Given the description of an element on the screen output the (x, y) to click on. 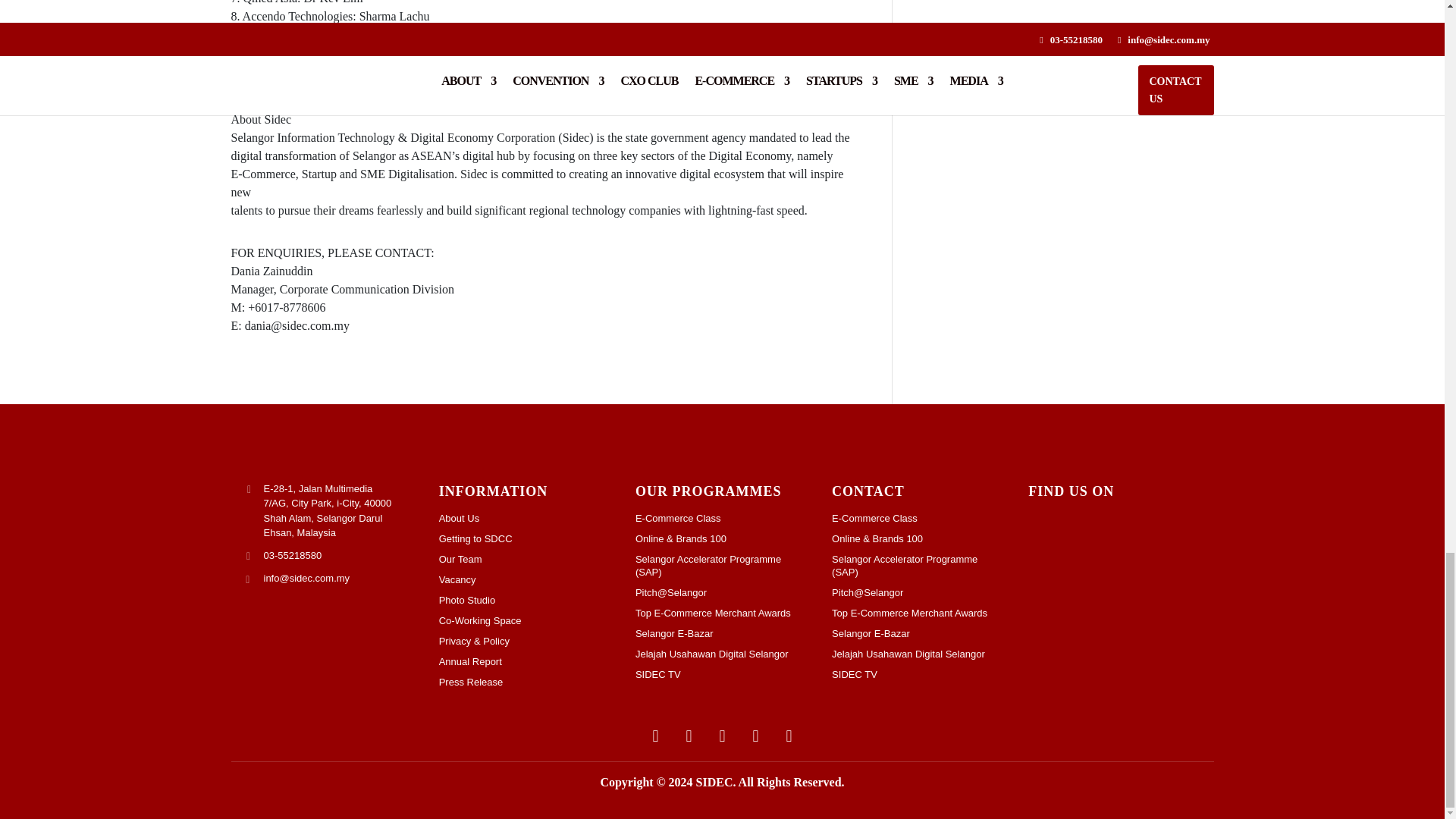
Getting to SDCC (525, 538)
Press Release (525, 681)
Top E-Commerce Merchant Awards (721, 612)
Selangor E-Bazar (721, 633)
Co-Working Space (525, 620)
Our Team (525, 558)
About Us (525, 517)
Annual Report (525, 661)
E-Commerce Class (721, 517)
Vacancy (525, 579)
